Given the description of an element on the screen output the (x, y) to click on. 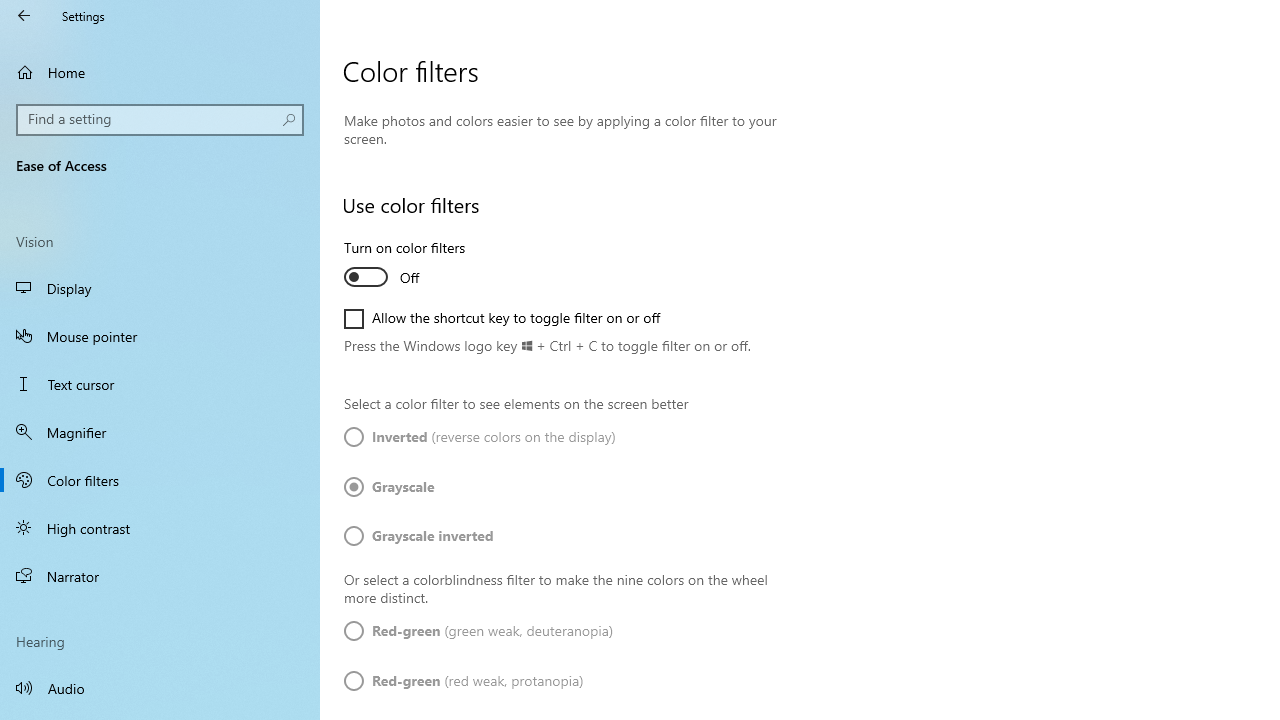
Text cursor (160, 384)
Red-green (green weak, deuteranopia) (479, 631)
Search box, Find a setting (160, 119)
